Given the description of an element on the screen output the (x, y) to click on. 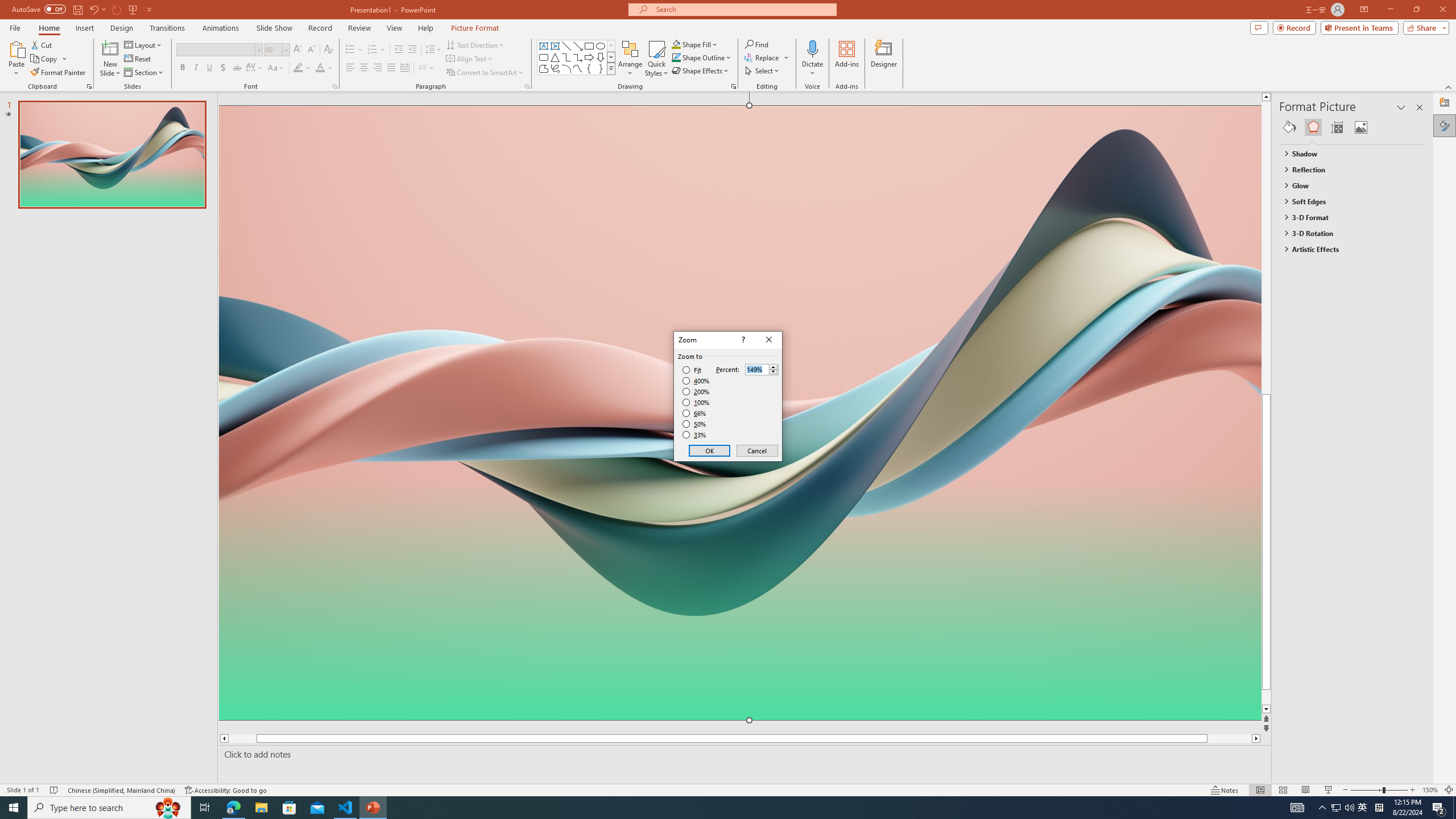
Format Picture (1444, 125)
